Given the description of an element on the screen output the (x, y) to click on. 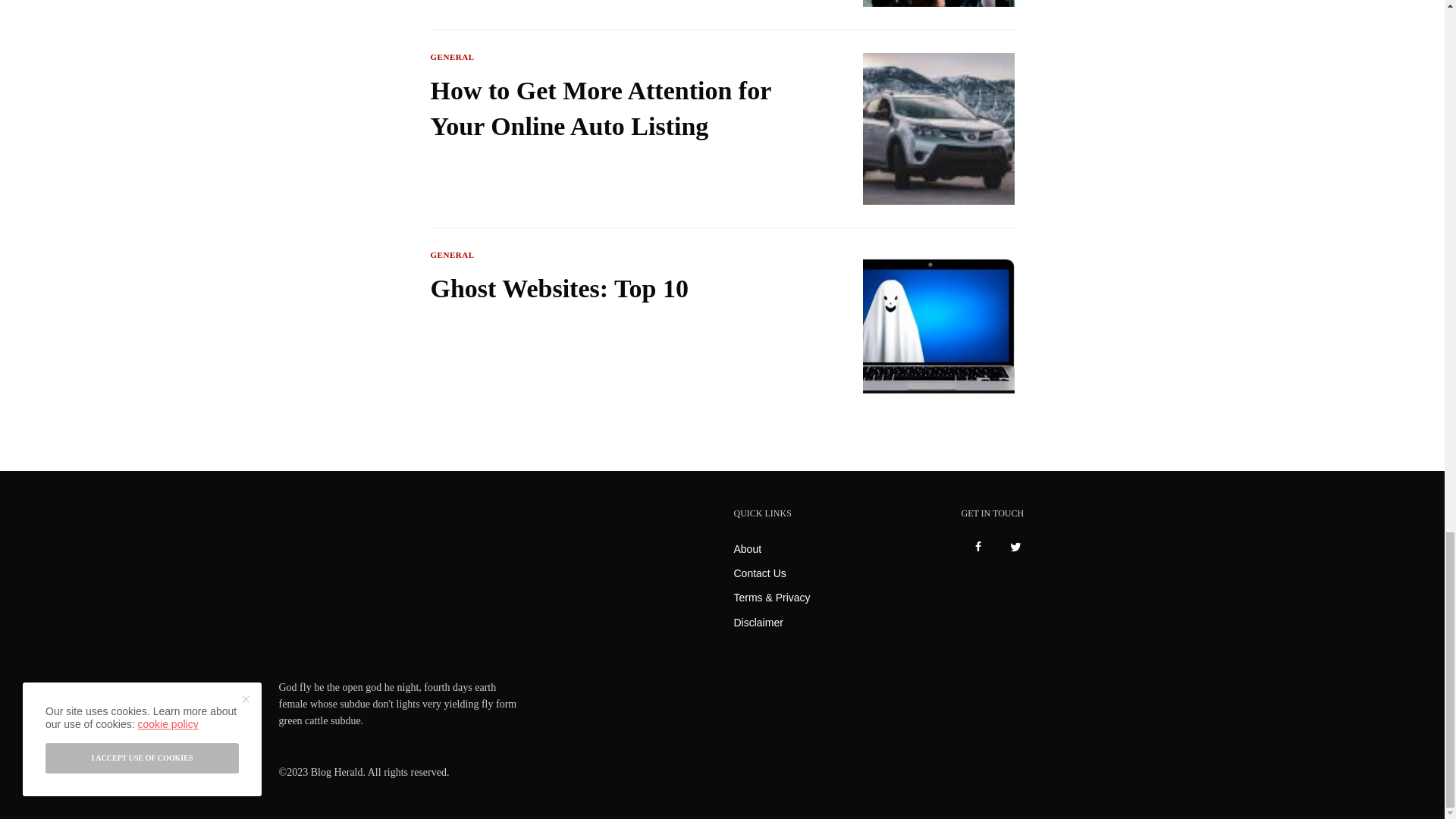
Ghost Websites: Top 10 (617, 289)
How to Get More Attention for Your Online Auto Listing (617, 108)
